Given the description of an element on the screen output the (x, y) to click on. 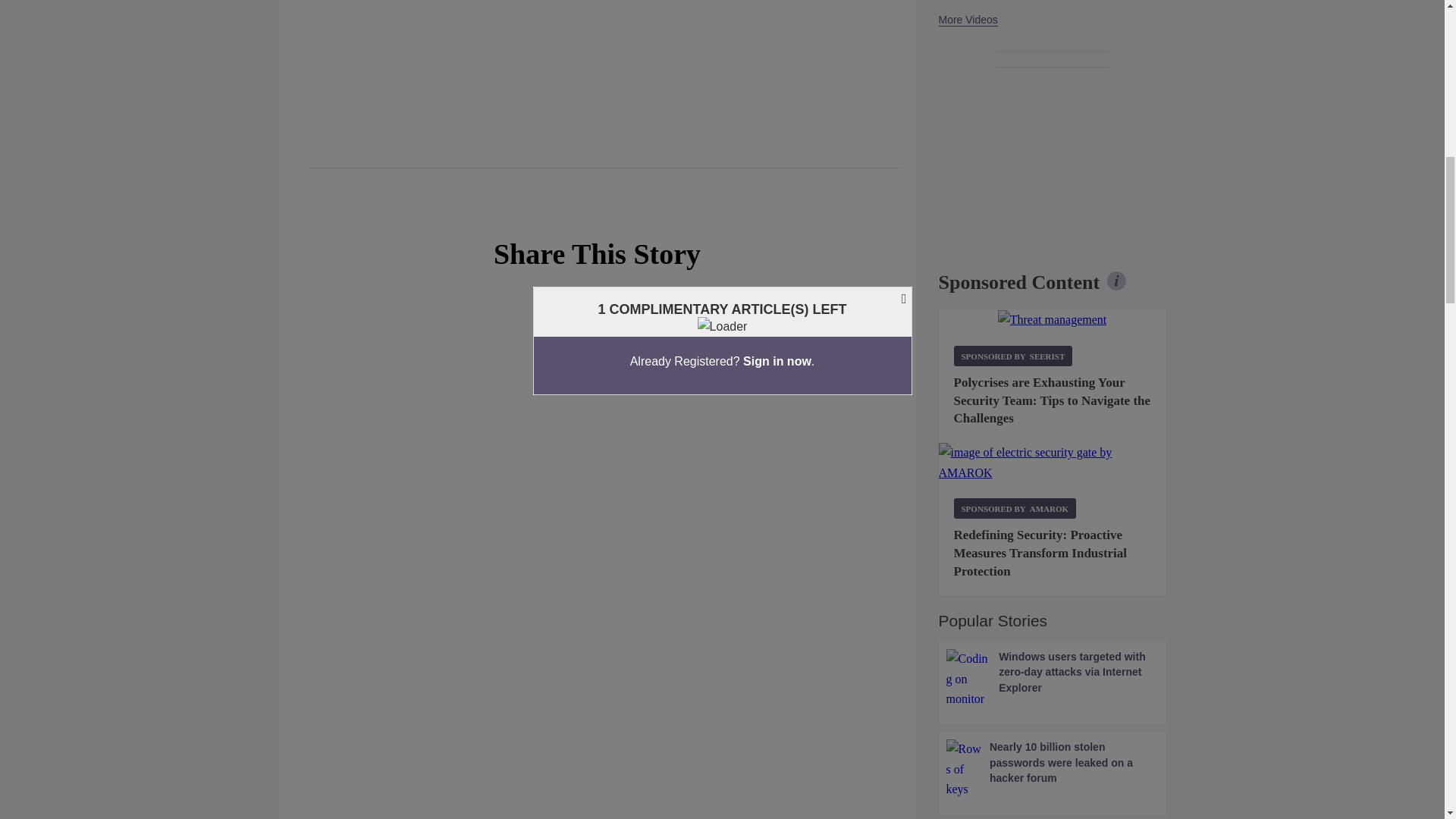
Interaction questions (597, 426)
Threat management (1051, 320)
AMAROK Security Gate (1052, 463)
Sponsored by AMAROK (1015, 507)
Sponsored by Seerist (1013, 355)
